Given the description of an element on the screen output the (x, y) to click on. 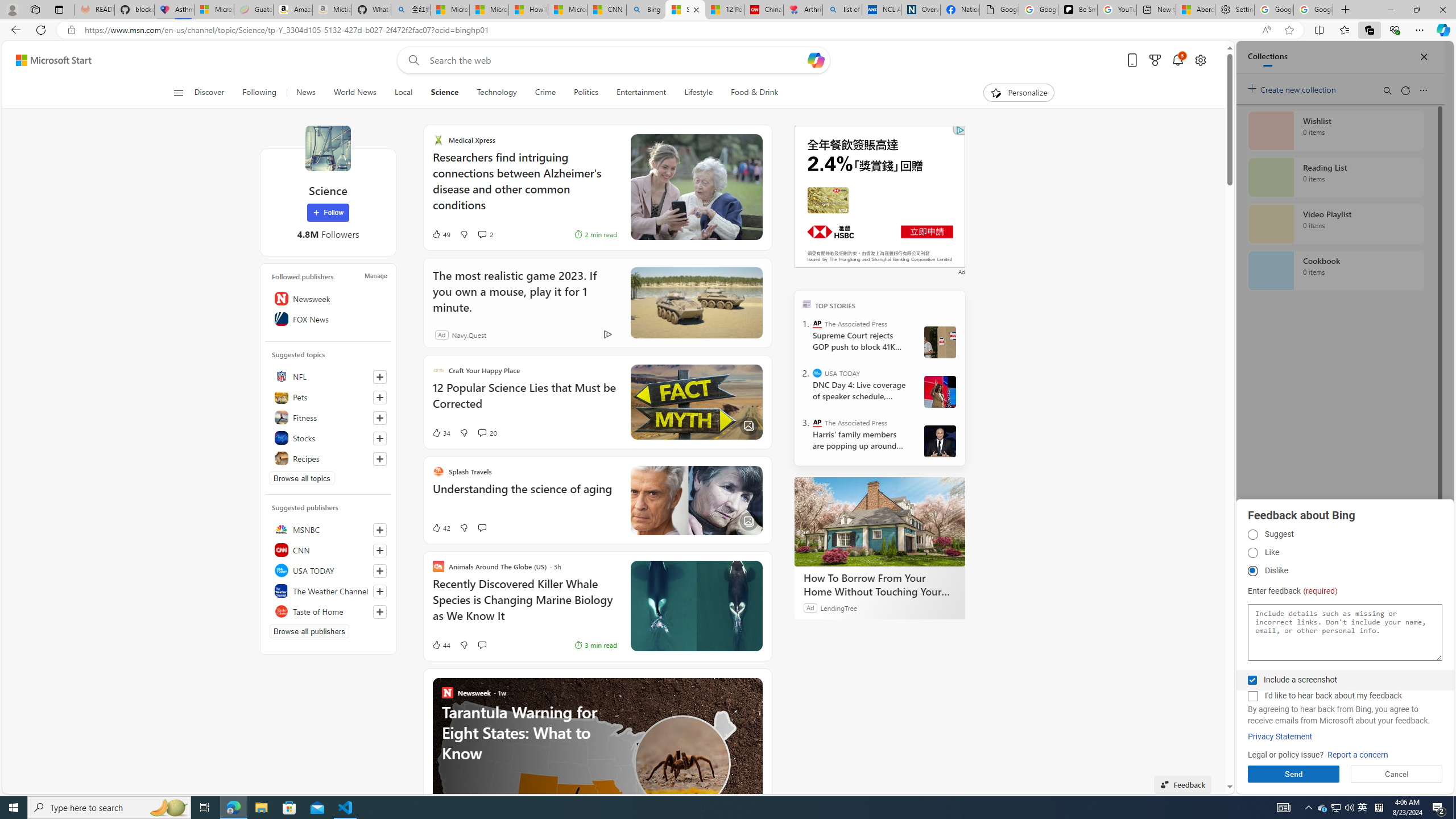
Suggest Suggest (1252, 534)
Asthma Inhalers: Names and Types (174, 9)
How I Got Rid of Microsoft Edge's Unnecessary Features (528, 9)
